Given the description of an element on the screen output the (x, y) to click on. 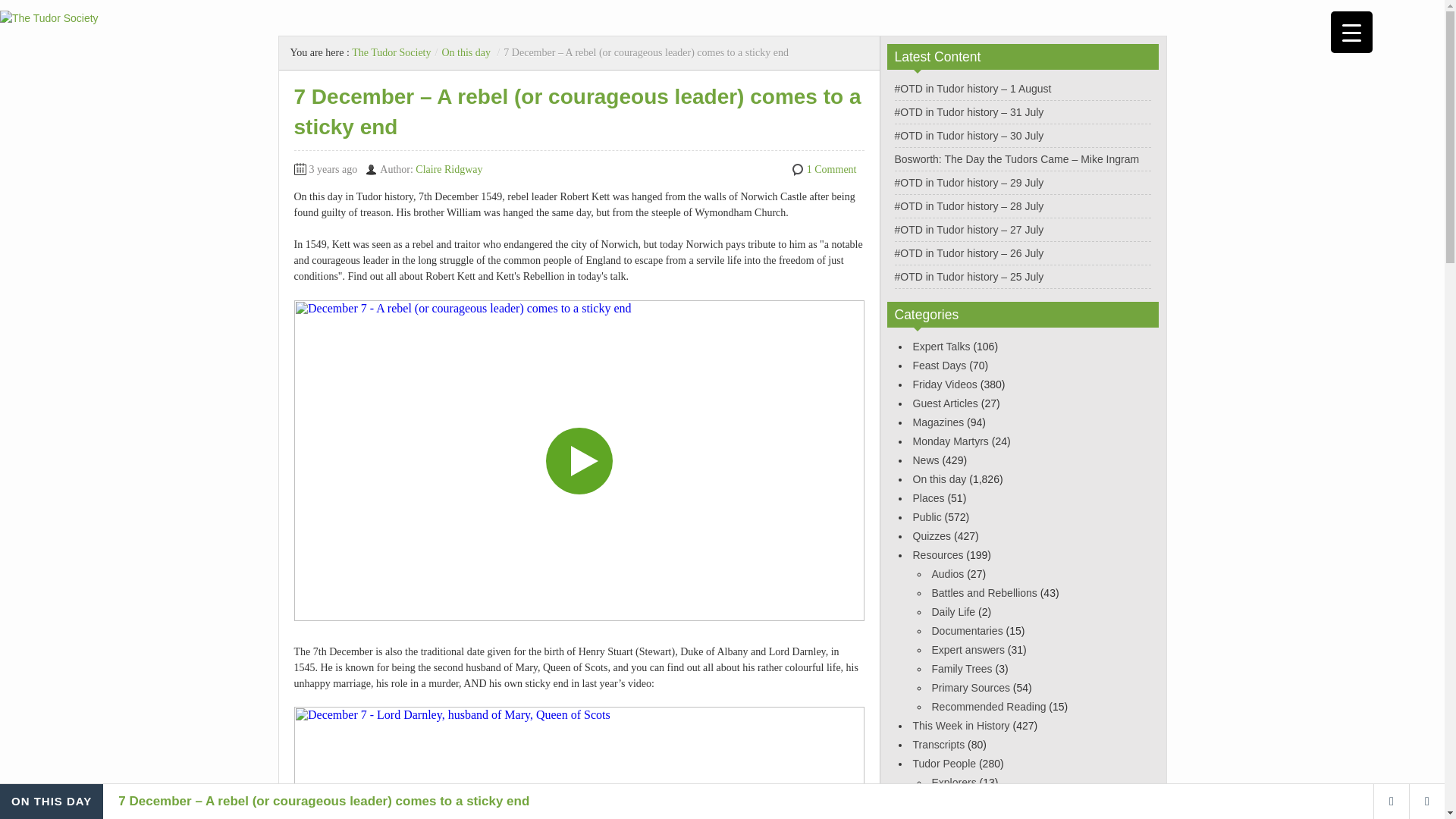
The Tudor Society (391, 52)
News (925, 460)
Claire Ridgway (447, 169)
Friday Videos (944, 384)
1 Comment (831, 169)
Guest Articles (945, 403)
On this day (465, 52)
Monday Martyrs (950, 440)
Expert Talks (941, 346)
December 7 - Lord Darnley, husband of Mary, Queen of Scots (579, 762)
Magazines (937, 422)
Feast Days (939, 365)
